Given the description of an element on the screen output the (x, y) to click on. 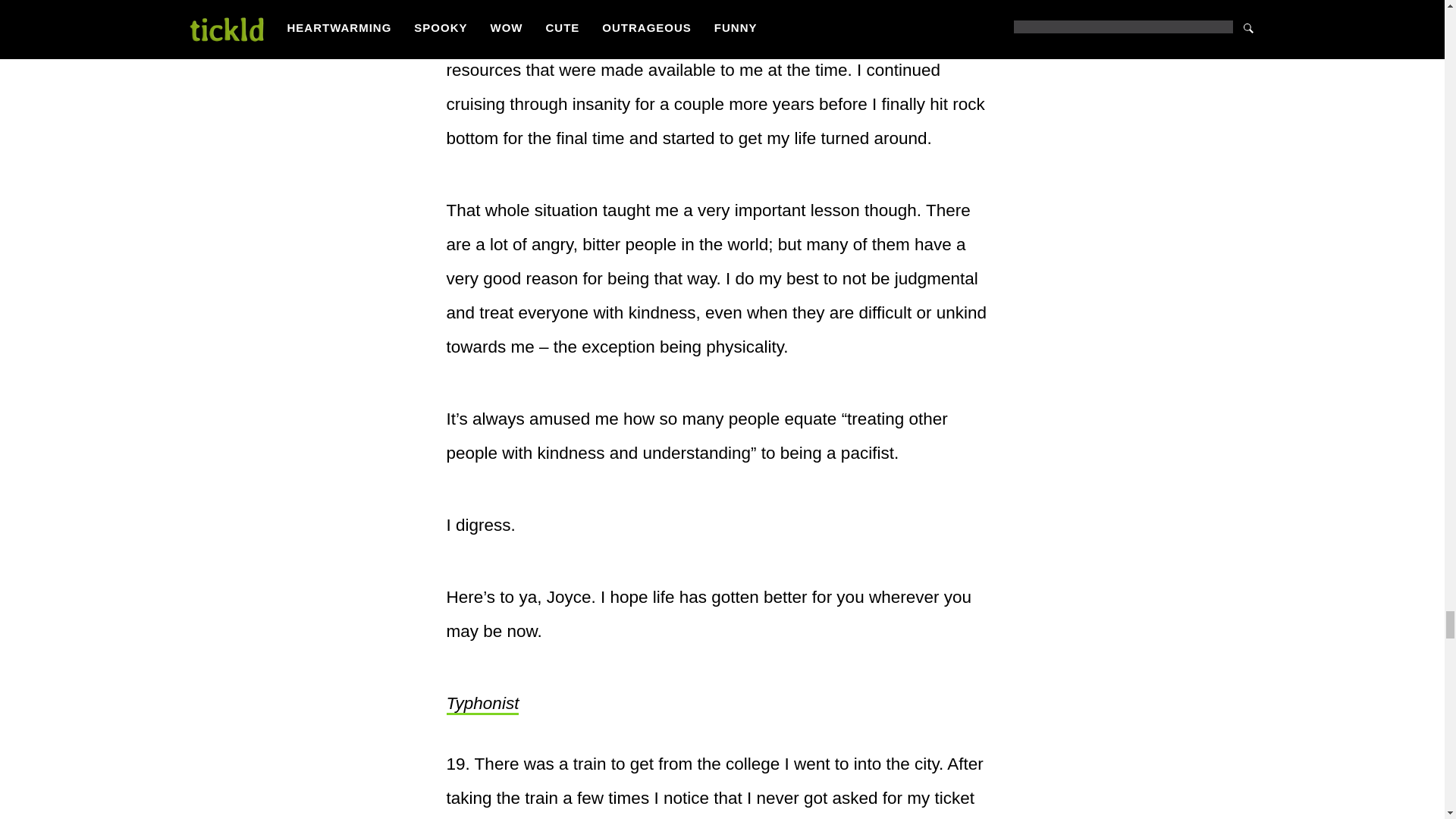
Typhonist (481, 703)
